Given the description of an element on the screen output the (x, y) to click on. 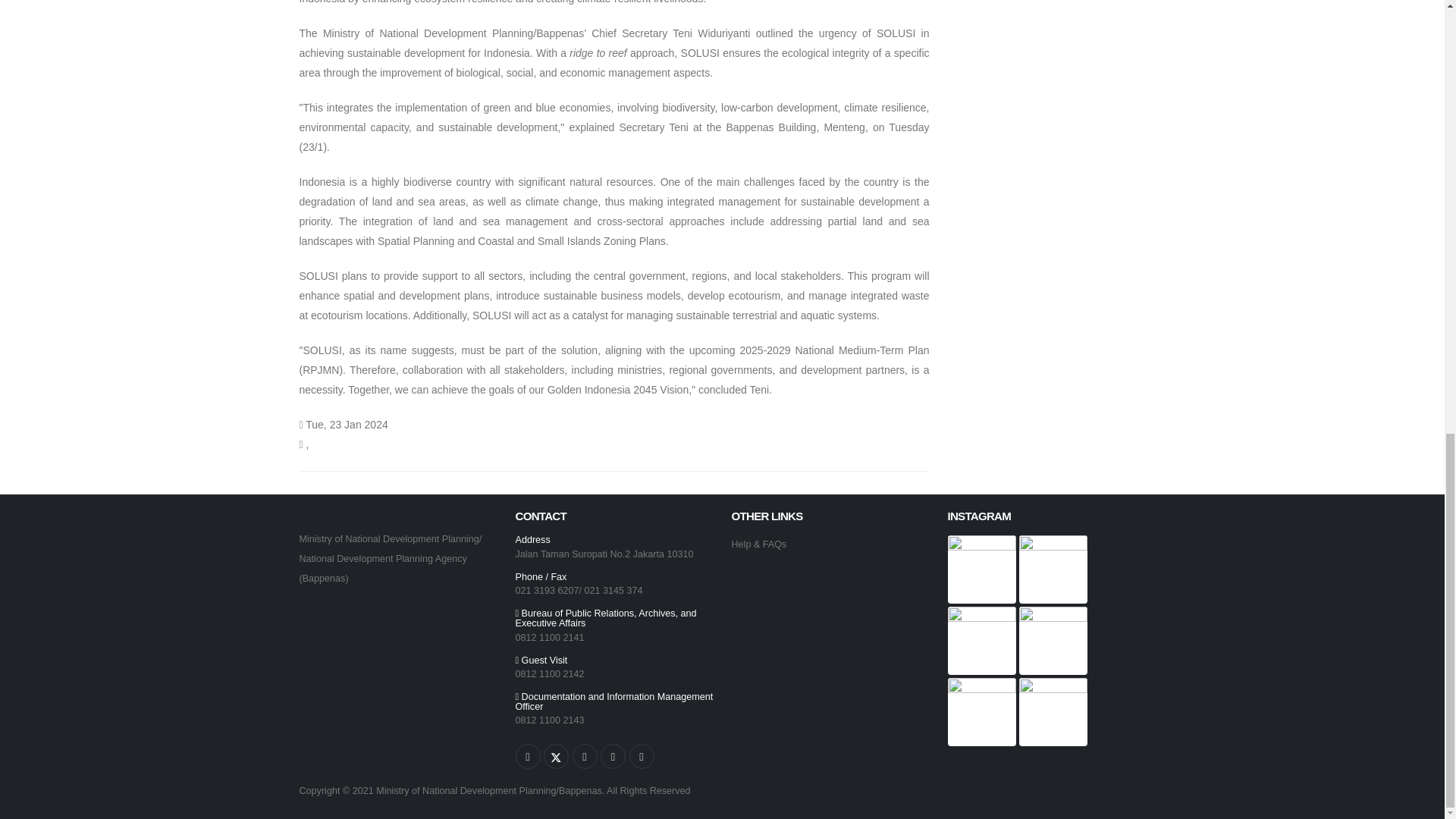
Tiktok (640, 756)
Instagram (527, 756)
Facebook (612, 756)
Twitter (556, 756)
Youtube (584, 756)
